Given the description of an element on the screen output the (x, y) to click on. 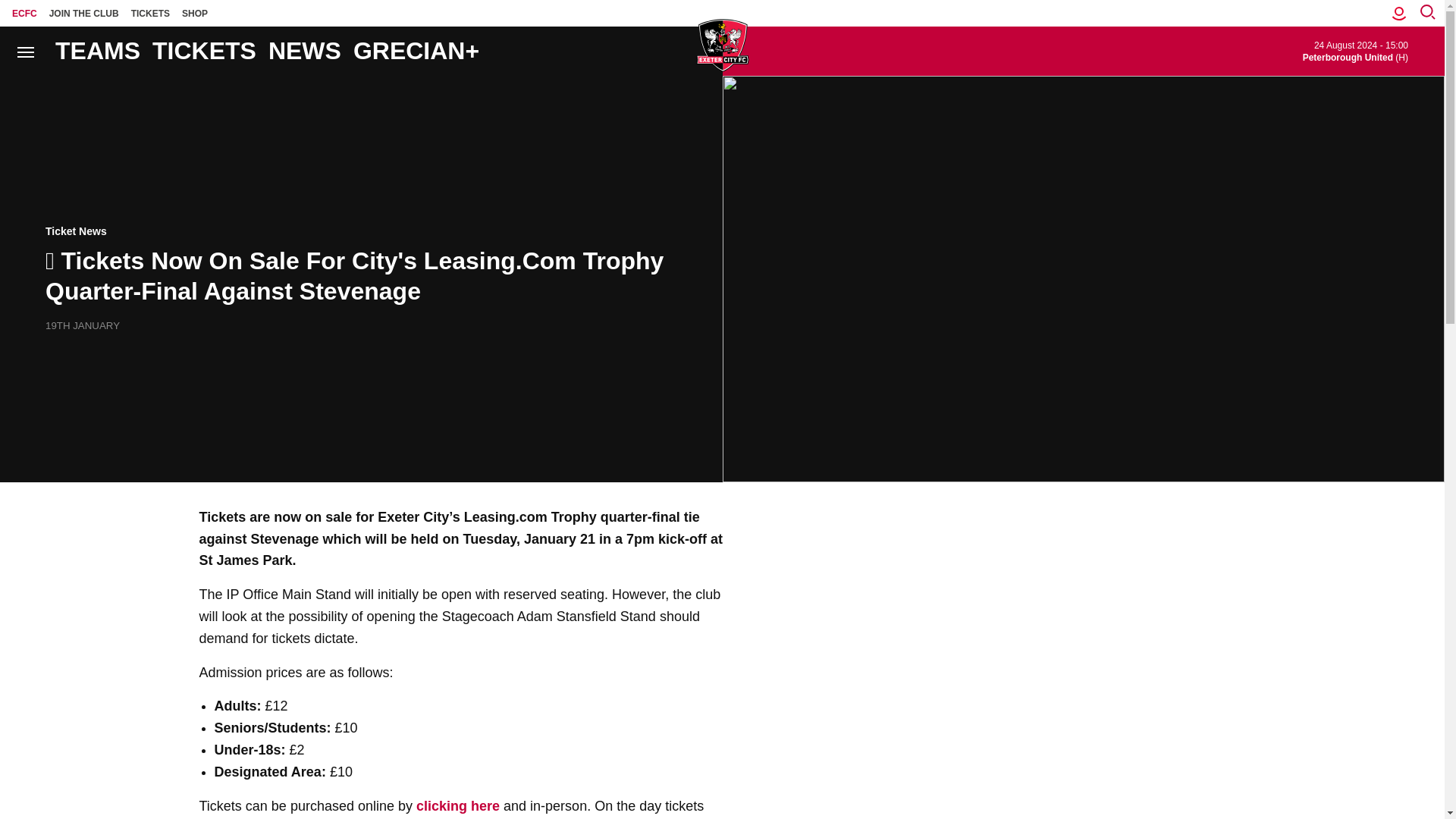
TICKETS (150, 13)
JOIN THE CLUB (84, 13)
ECFC (24, 13)
SHOP (195, 13)
